Given the description of an element on the screen output the (x, y) to click on. 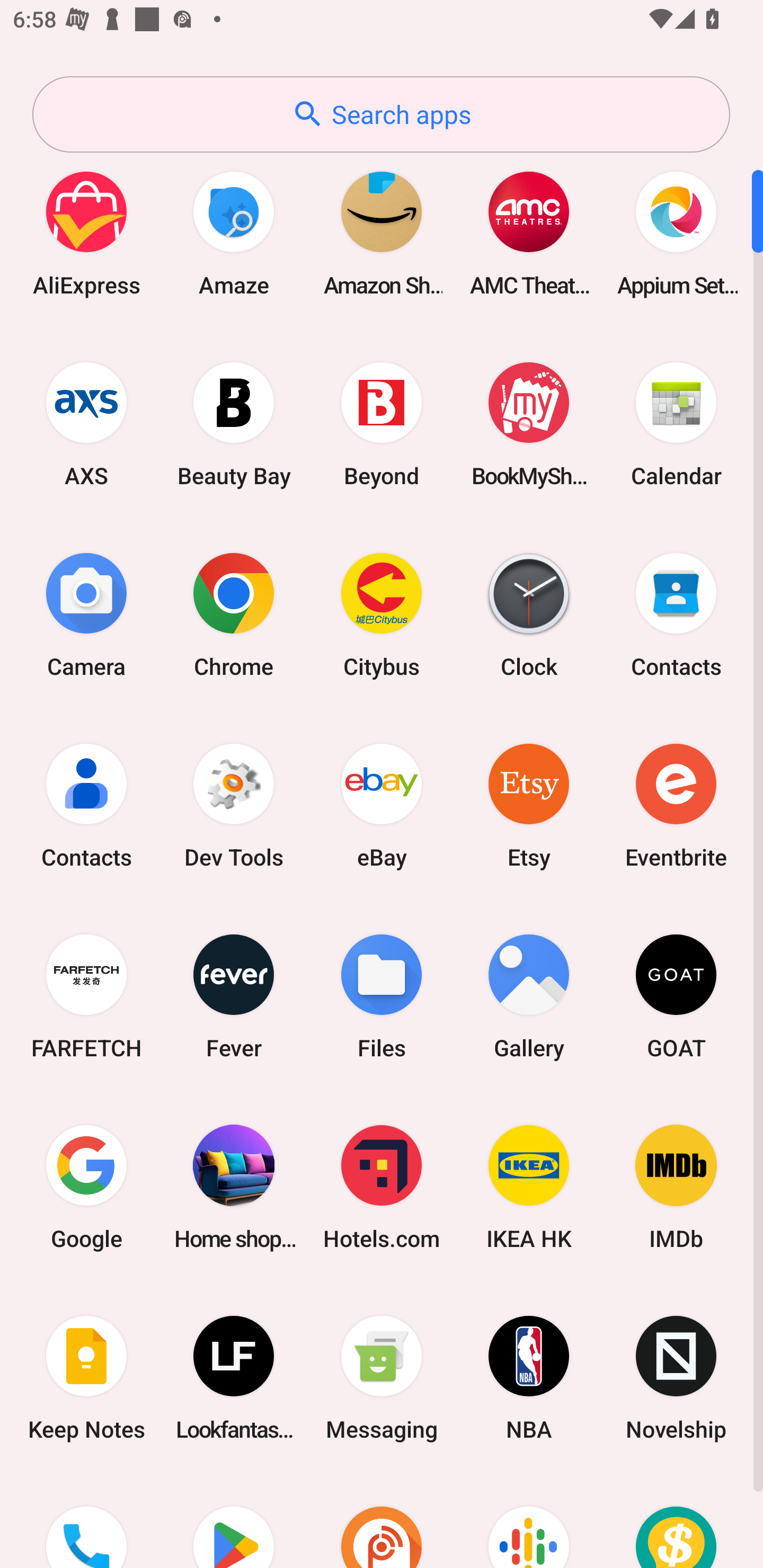
  Search apps (381, 114)
AliExpress (86, 233)
Amaze (233, 233)
Amazon Shopping (381, 233)
AMC Theatres (528, 233)
Appium Settings (676, 233)
AXS (86, 424)
Beauty Bay (233, 424)
Beyond (381, 424)
BookMyShow (528, 424)
Calendar (676, 424)
Camera (86, 614)
Chrome (233, 614)
Citybus (381, 614)
Clock (528, 614)
Contacts (676, 614)
Contacts (86, 805)
Dev Tools (233, 805)
eBay (381, 805)
Etsy (528, 805)
Eventbrite (676, 805)
FARFETCH (86, 996)
Fever (233, 996)
Files (381, 996)
Gallery (528, 996)
GOAT (676, 996)
Google (86, 1186)
Home shopping (233, 1186)
Hotels.com (381, 1186)
IKEA HK (528, 1186)
IMDb (676, 1186)
Keep Notes (86, 1377)
Lookfantastic (233, 1377)
Messaging (381, 1377)
NBA (528, 1377)
Novelship (676, 1377)
Phone (86, 1520)
Play Store (233, 1520)
Podcast Addict (381, 1520)
Podcasts (528, 1520)
Price (676, 1520)
